Given the description of an element on the screen output the (x, y) to click on. 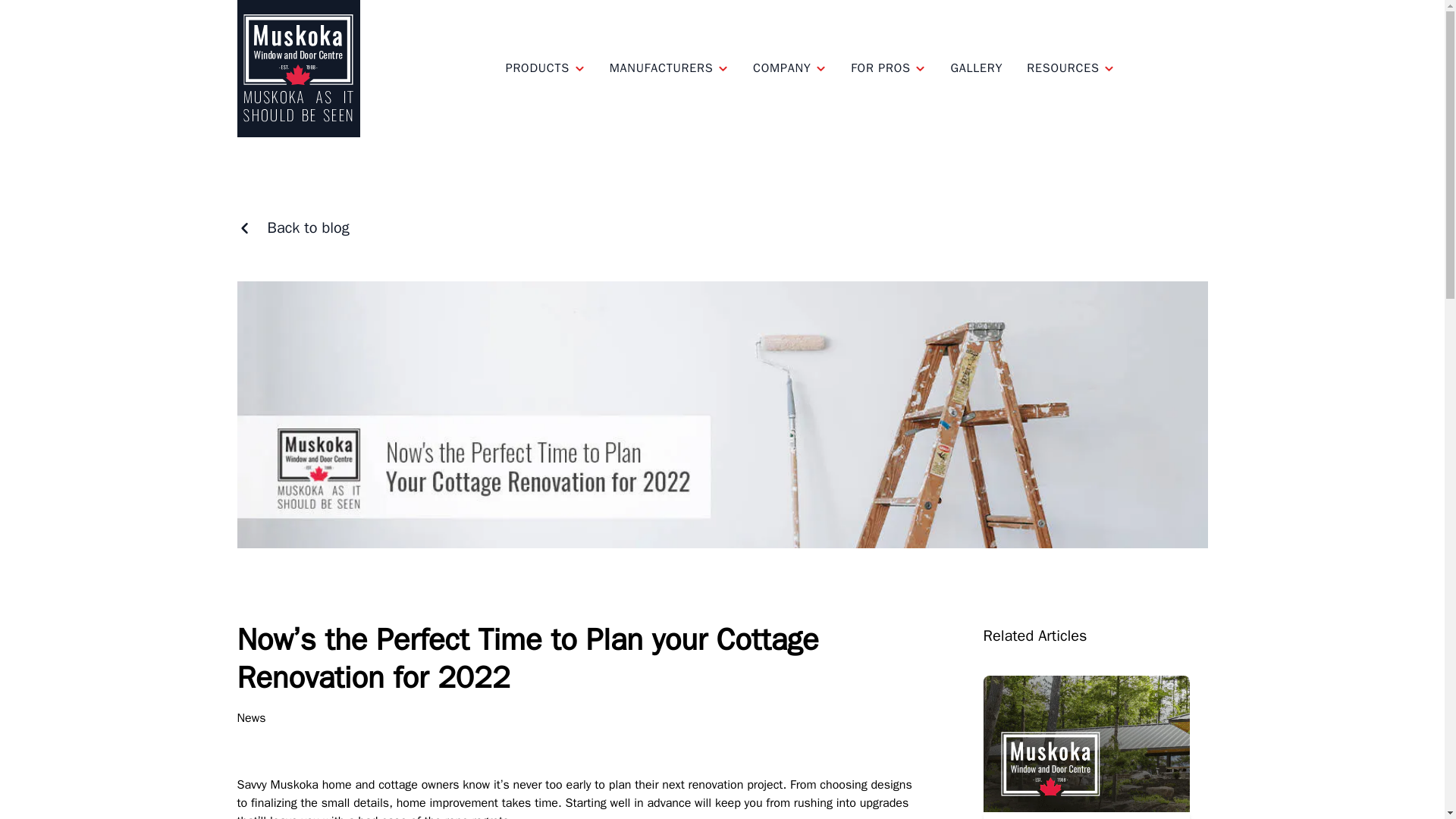
 Back to blog (722, 67)
